Given the description of an element on the screen output the (x, y) to click on. 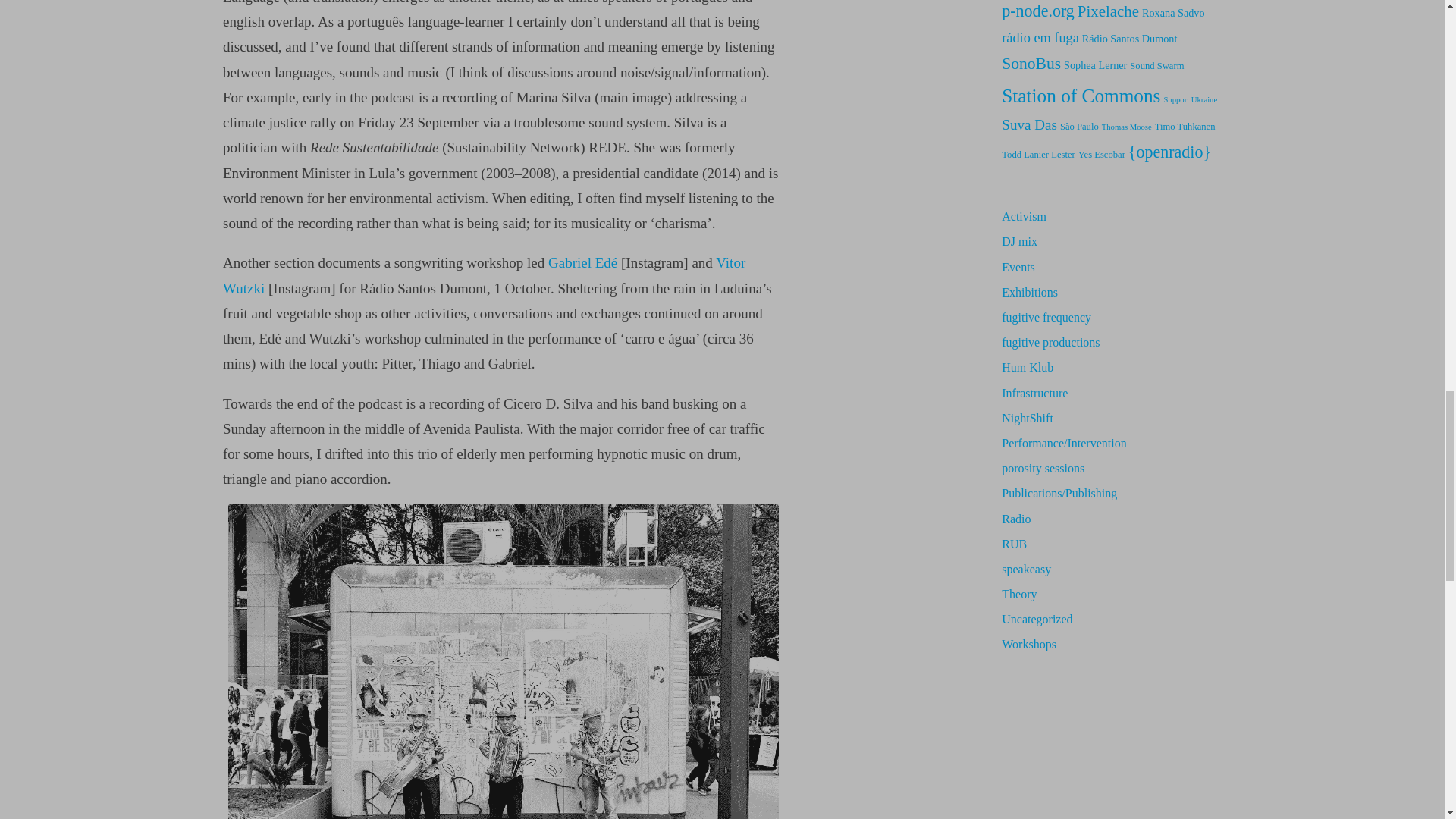
Vitor Wutzki (483, 274)
